Given the description of an element on the screen output the (x, y) to click on. 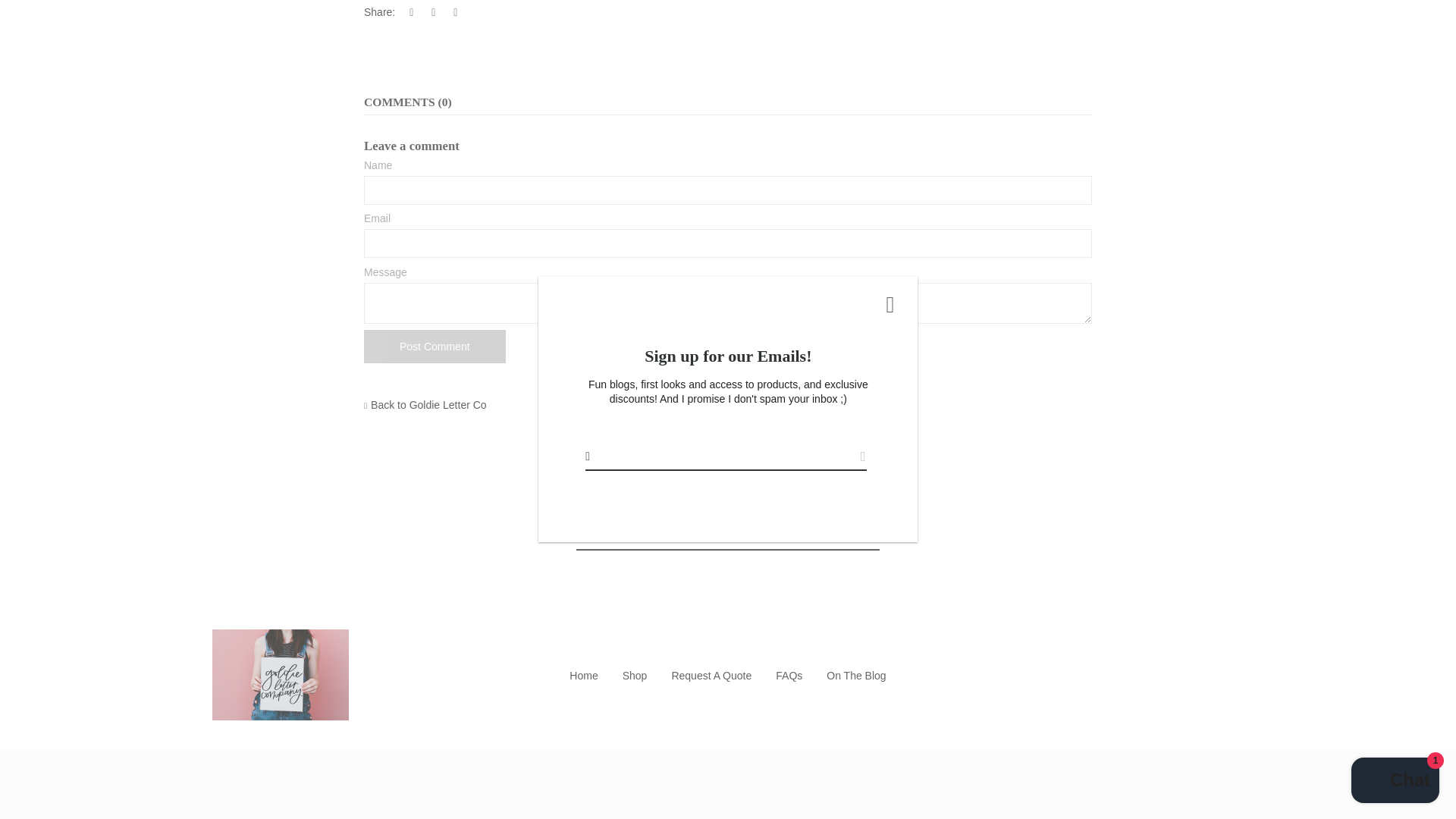
American Express (569, 796)
PayPal (791, 796)
Venmo (854, 796)
Visa (885, 796)
Google Pay (727, 796)
Shop Pay (823, 796)
Diners Club (632, 796)
Apple Pay (601, 796)
Meta Pay (696, 796)
Discover (664, 796)
Mastercard (759, 796)
